Given the description of an element on the screen output the (x, y) to click on. 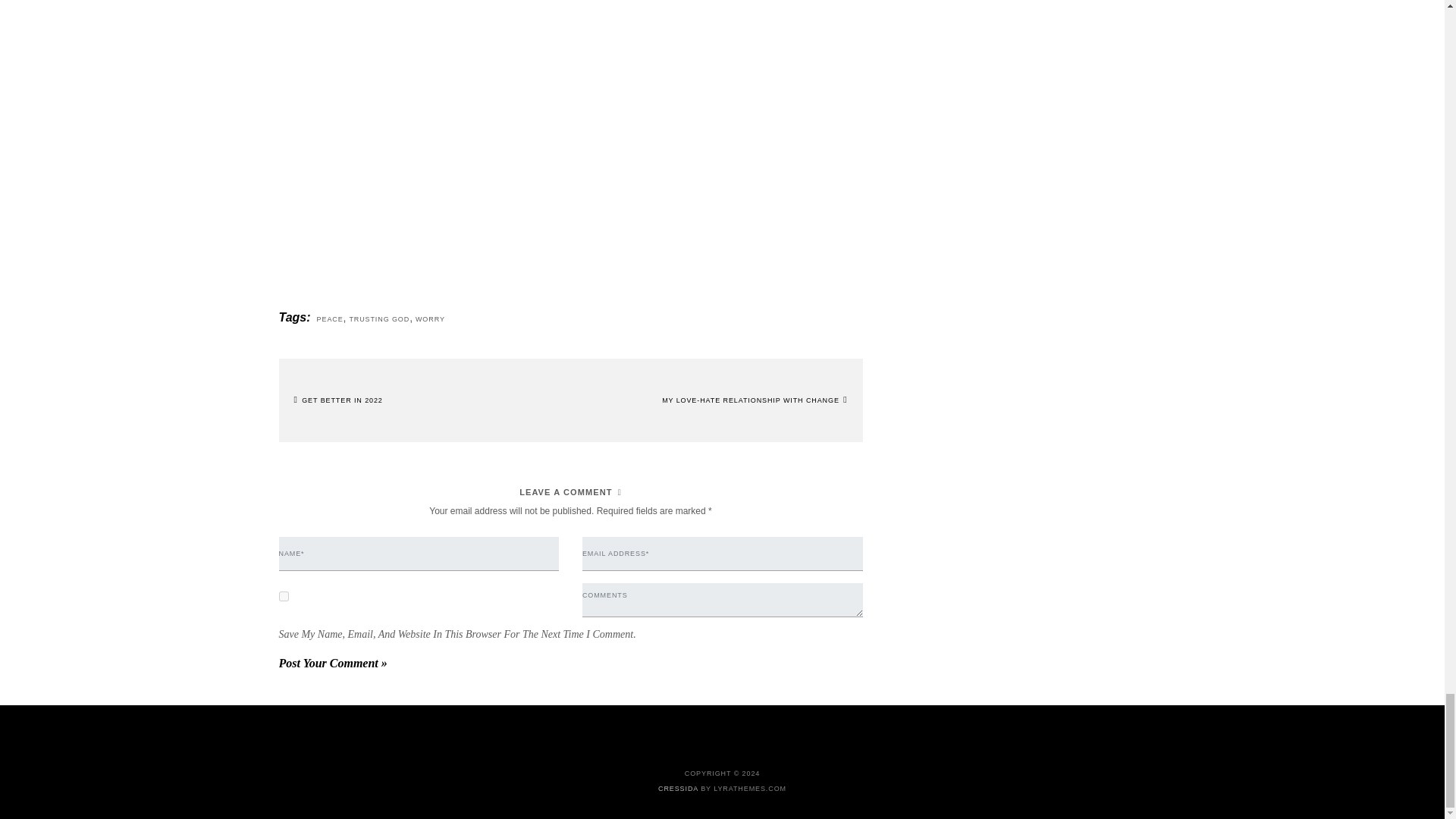
GET BETTER IN 2022 (338, 400)
MY LOVE-HATE RELATIONSHIP WITH CHANGE (754, 400)
yes (283, 596)
WORRY (429, 318)
PEACE (330, 318)
TRUSTING GOD (379, 318)
CRESSIDA (678, 788)
